Given the description of an element on the screen output the (x, y) to click on. 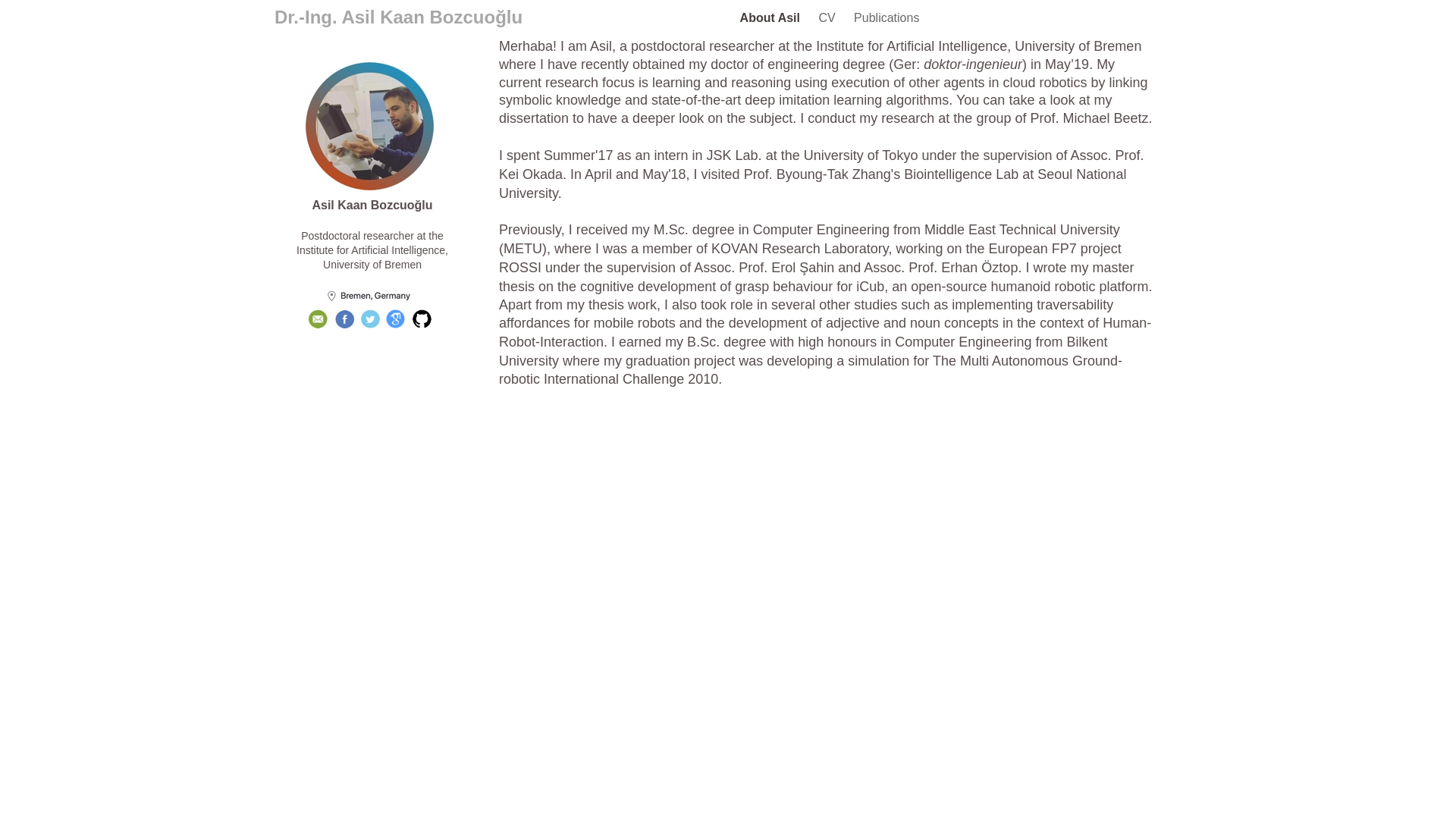
Biointelligence Lab Element type: text (960, 174)
KOVAN Research Laboratory Element type: text (799, 248)
Assoc. Prof. Kei Okada Element type: text (821, 164)
https://www.facebook.com/asilx Element type: hover (344, 323)
JSK Lab. Element type: text (734, 154)
Bilkent University Element type: text (802, 351)
my graduation project Element type: text (668, 360)
iCub Element type: text (870, 286)
Computer Engineering Element type: text (962, 341)
my dissertation Element type: text (804, 108)
About Asil Element type: text (771, 17)
University of Tokyo Element type: text (860, 154)
Seoul National University Element type: text (812, 183)
ROSSI Element type: text (519, 267)
the Institute for Artificial Intelligence Element type: text (370, 242)
Middle East Technical University Element type: text (1022, 229)
University of Bremen Element type: text (372, 264)
my master thesis Element type: text (815, 277)
mailto:asil@uni-bremen.de?subject=Hello Asil! Element type: hover (317, 323)
https://scholar.google.de/citations?user=_Qw10JoAAAAJ&hl=en Element type: hover (394, 323)
Prof. Byoung-Tak Zhang Element type: text (817, 174)
CV Element type: text (828, 17)
https://twitter.com/asilkb Element type: hover (370, 323)
https://github.com/asilx Element type: hover (421, 323)
Publications Element type: text (886, 17)
Computer Engineering Element type: text (821, 229)
Prof. Michael Beetz Element type: text (1088, 117)
